Given the description of an element on the screen output the (x, y) to click on. 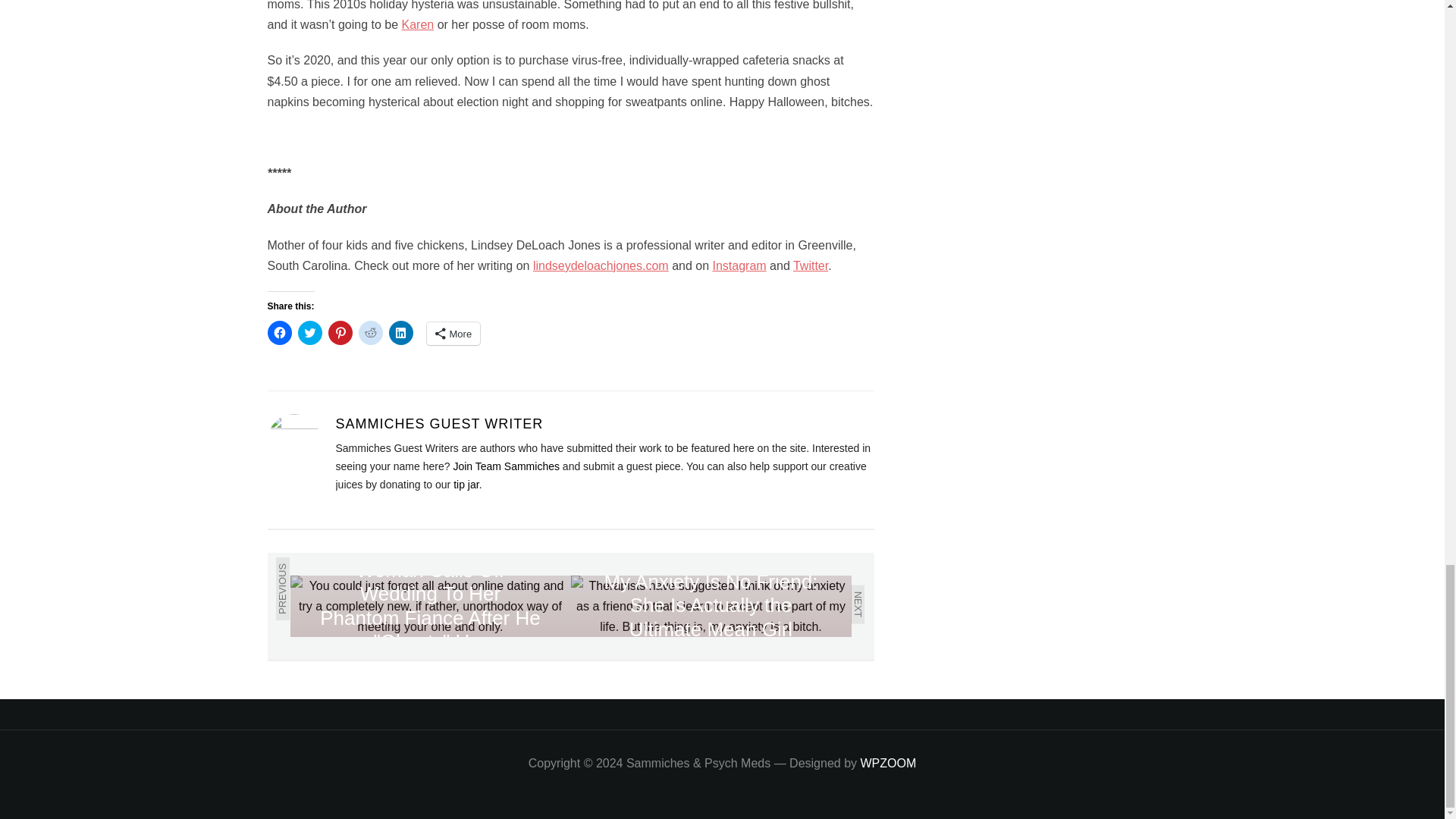
Click to share on Reddit (369, 332)
Posts by Sammiches Guest Writer (438, 423)
Woman Calls Off Wedding To Her Phantom Fiance After He  (429, 606)
Click to share on Pinterest (339, 332)
Click to share on Twitter (309, 332)
Click to share on LinkedIn (400, 332)
Click to share on Facebook (278, 332)
